Given the description of an element on the screen output the (x, y) to click on. 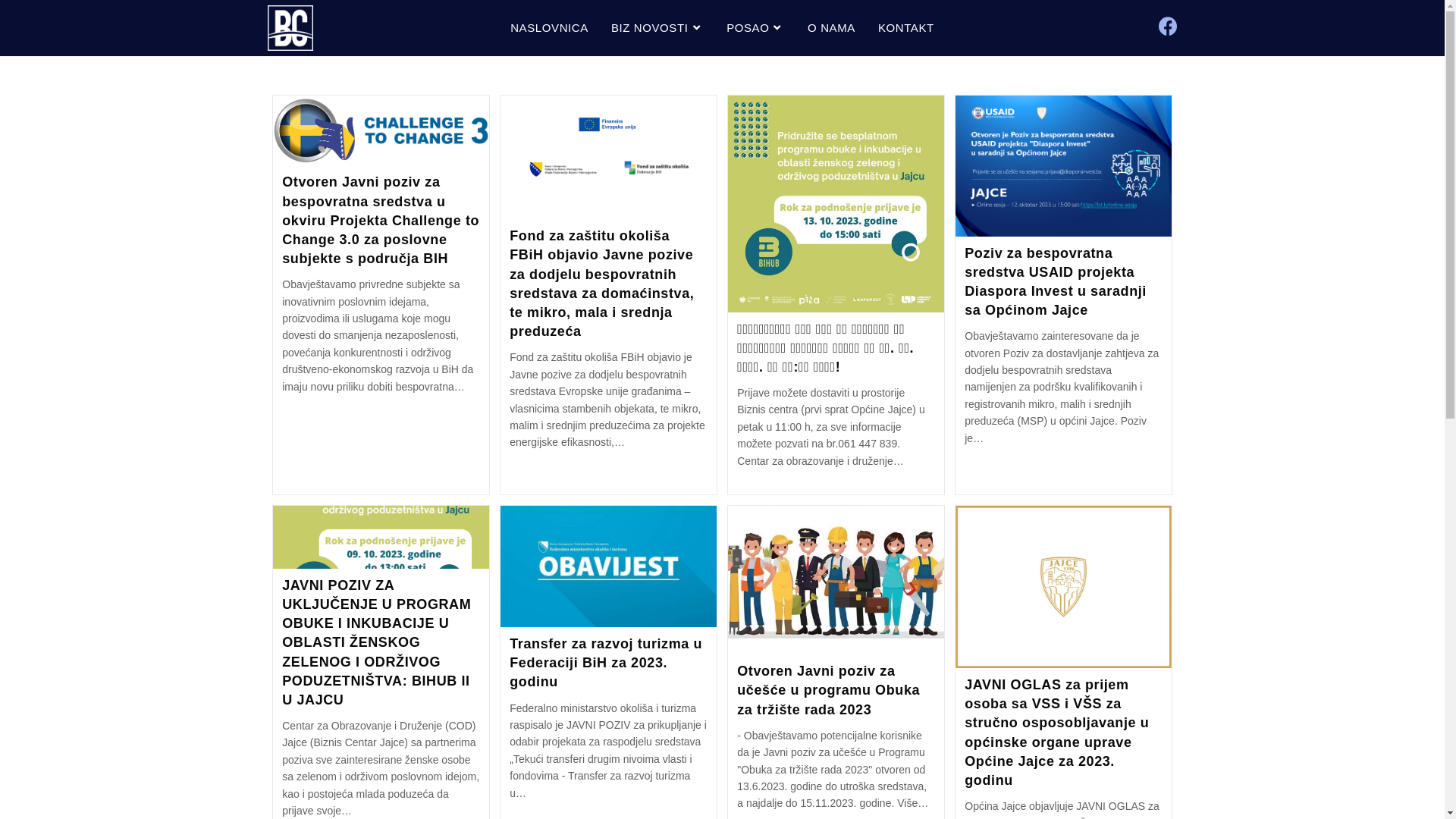
NASLOVNICA Element type: text (548, 28)
KONTAKT Element type: text (905, 28)
POSAO Element type: text (755, 28)
info@biznis-jajce.ba codjajce@gmail.com Element type: text (823, 743)
BIZ NOVOSTI Element type: text (657, 28)
O NAMA Element type: text (831, 28)
Transfer za razvoj turizma u Federaciji BiH za 2023. godinu Element type: text (605, 662)
